Given the description of an element on the screen output the (x, y) to click on. 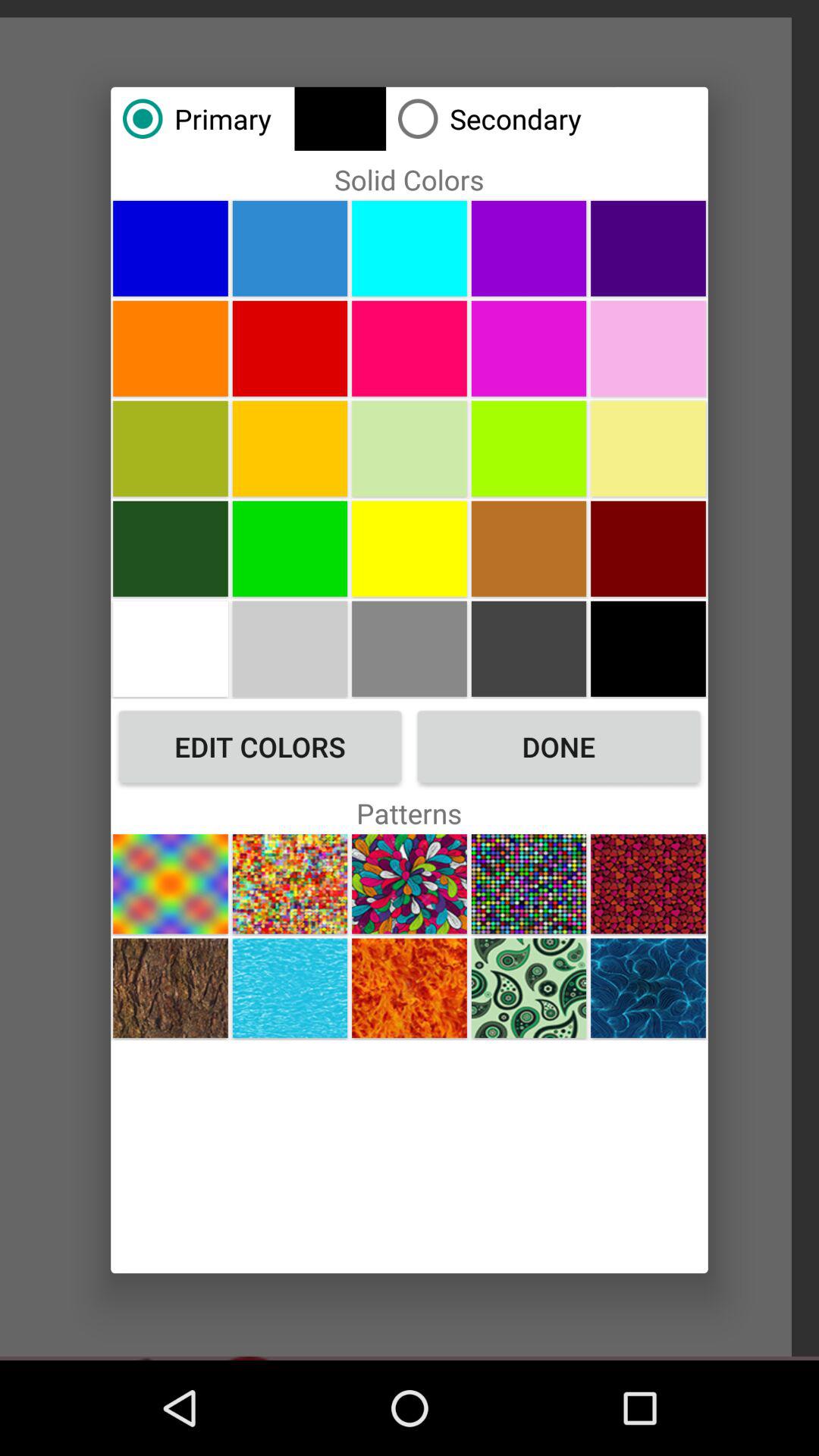
showing colour options (289, 448)
